Given the description of an element on the screen output the (x, y) to click on. 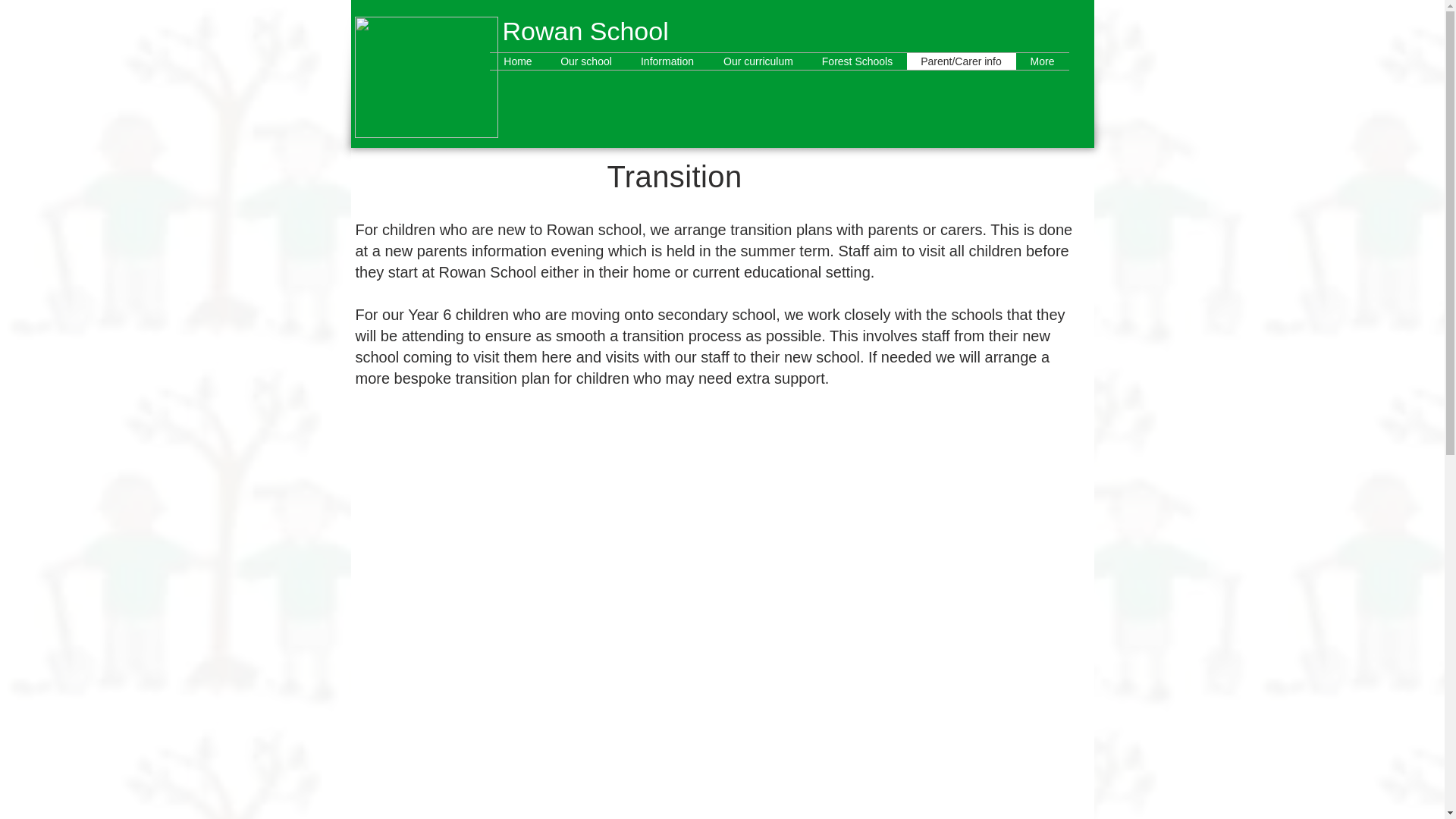
Home (518, 61)
Forest Schools (857, 61)
Our school (586, 61)
Our curriculum (757, 61)
Information (667, 61)
